Given the description of an element on the screen output the (x, y) to click on. 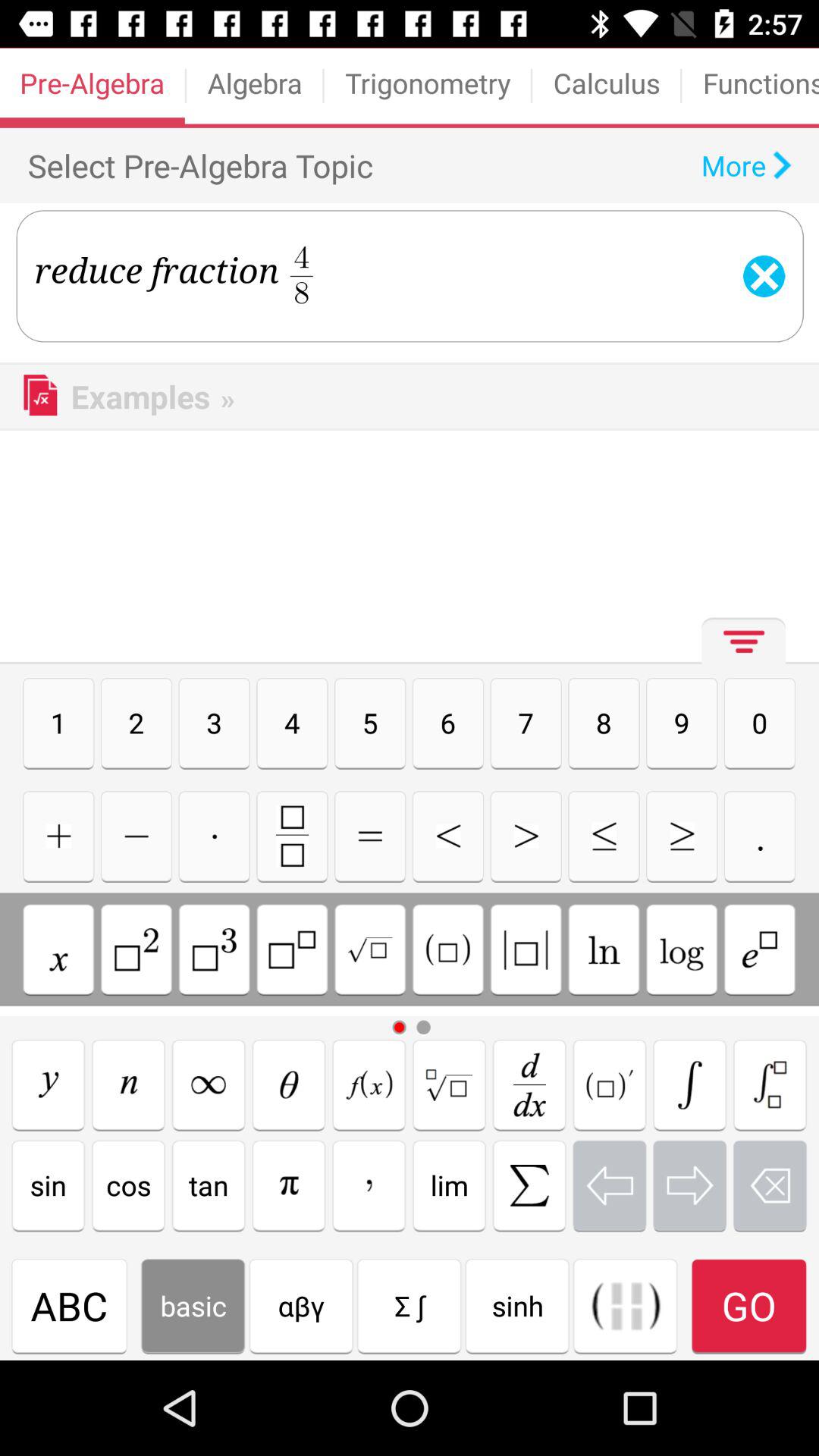
select this button (759, 949)
